Given the description of an element on the screen output the (x, y) to click on. 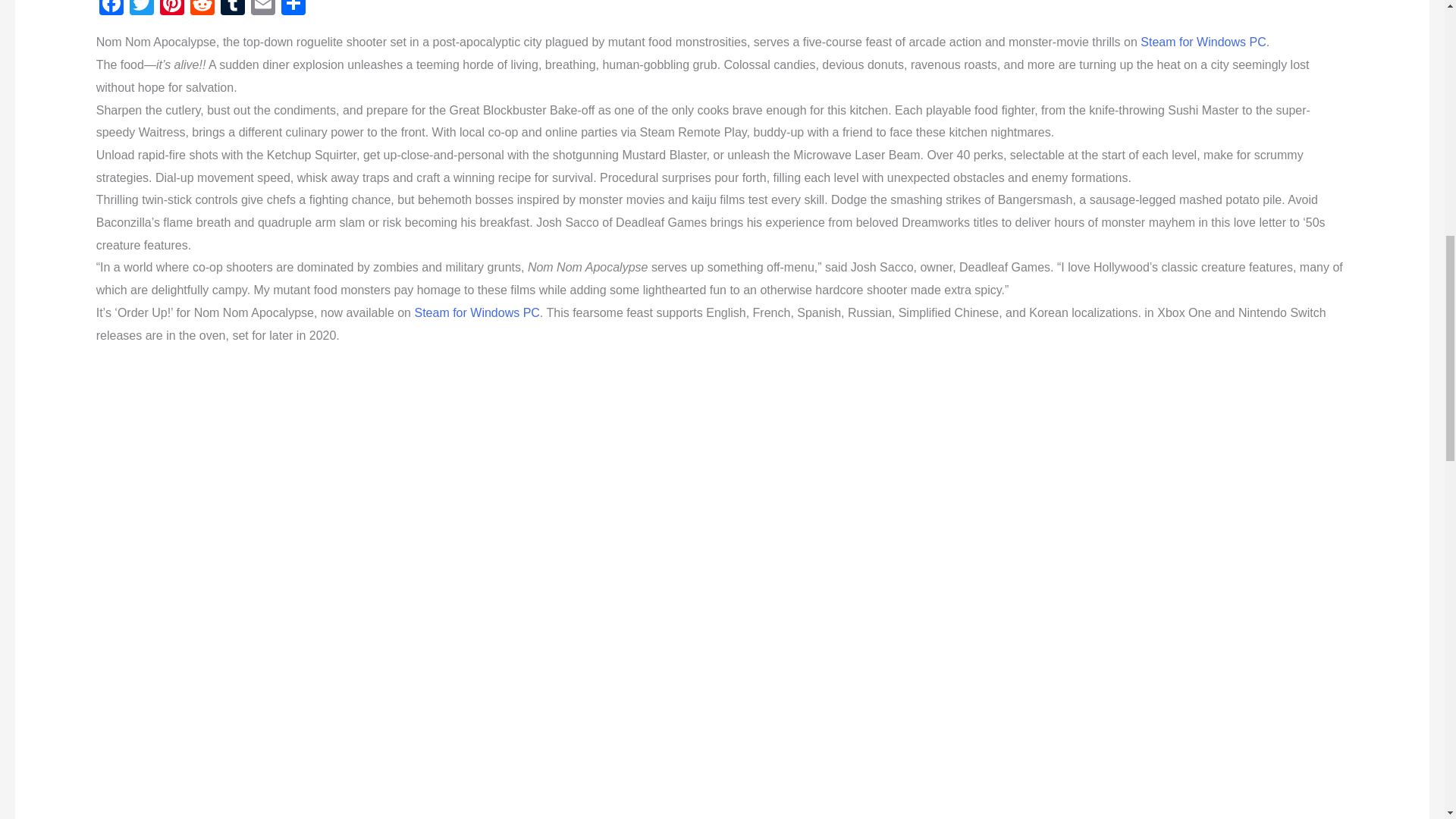
Pinterest (172, 9)
Steam for Windows PC (1202, 42)
Facebook (111, 9)
Email (262, 9)
Twitter (141, 9)
Tumblr (231, 9)
Steam for Windows PC (475, 312)
Reddit (201, 9)
Email (262, 9)
Reddit (201, 9)
